Given the description of an element on the screen output the (x, y) to click on. 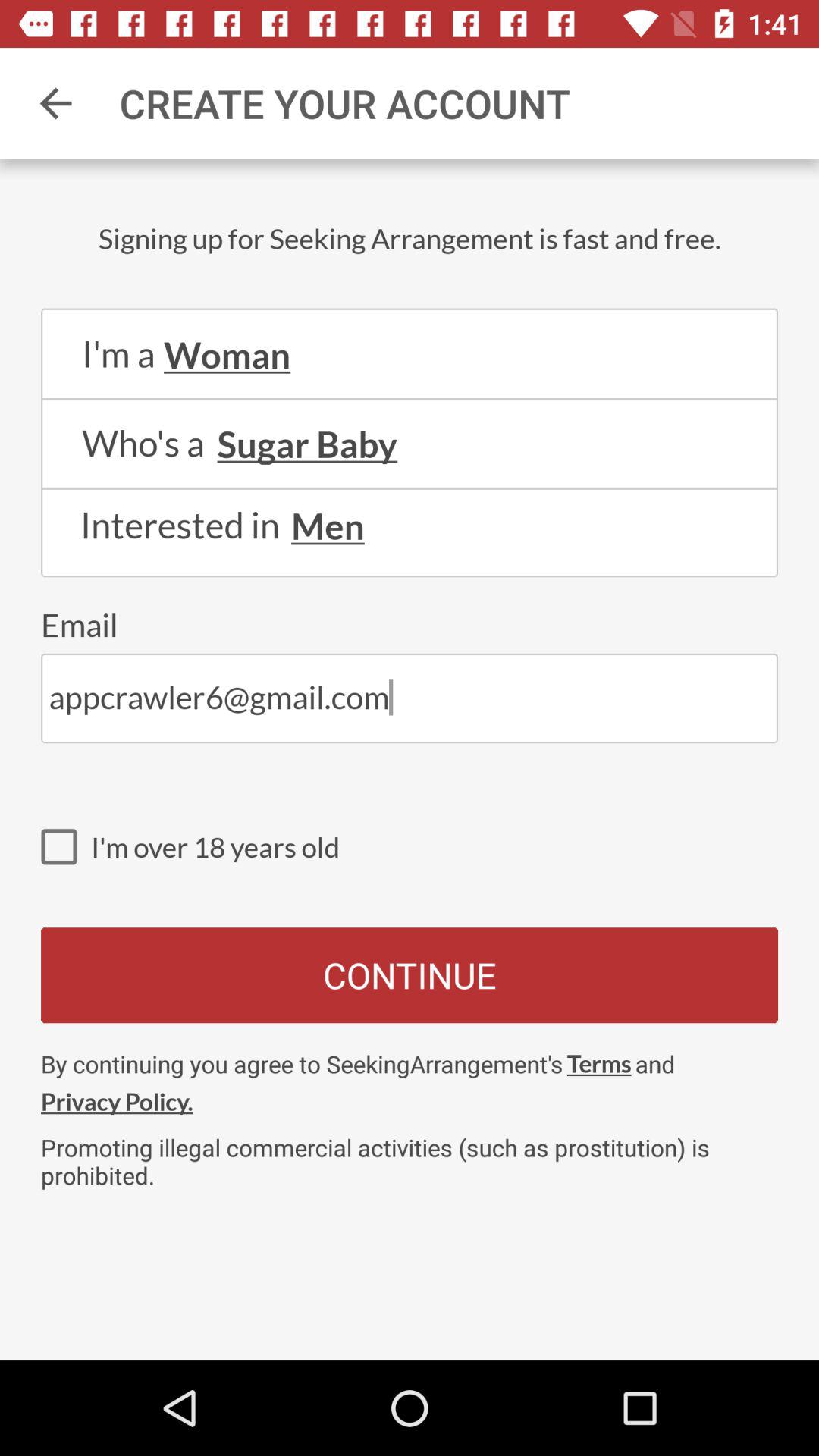
turn off the icon to the left of terms item (116, 1101)
